Given the description of an element on the screen output the (x, y) to click on. 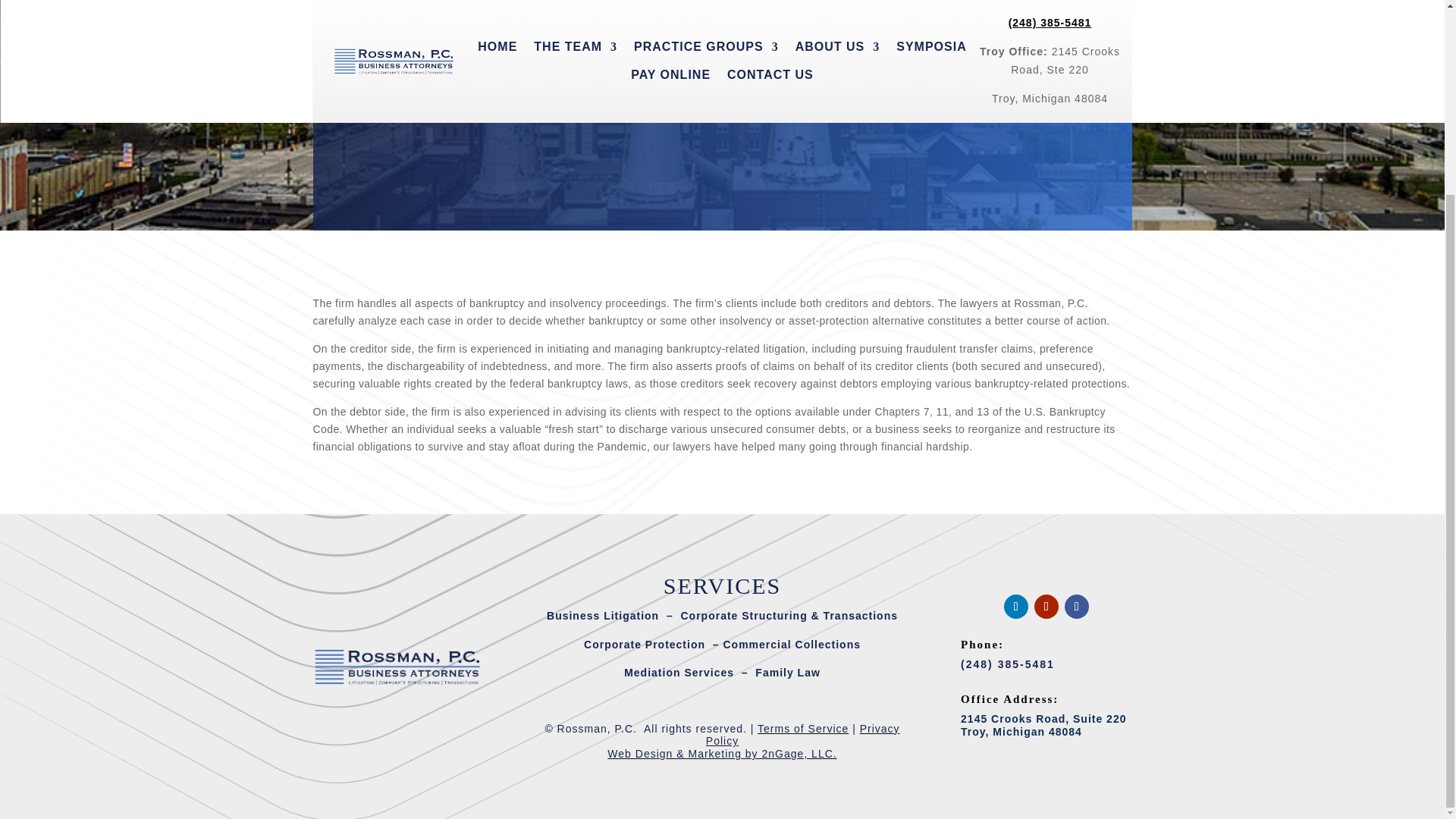
Follow on Youtube (1045, 606)
Updated Rossman Logo in Color (398, 666)
Follow on LinkedIn (1015, 606)
Follow on Facebook (1076, 606)
